Given the description of an element on the screen output the (x, y) to click on. 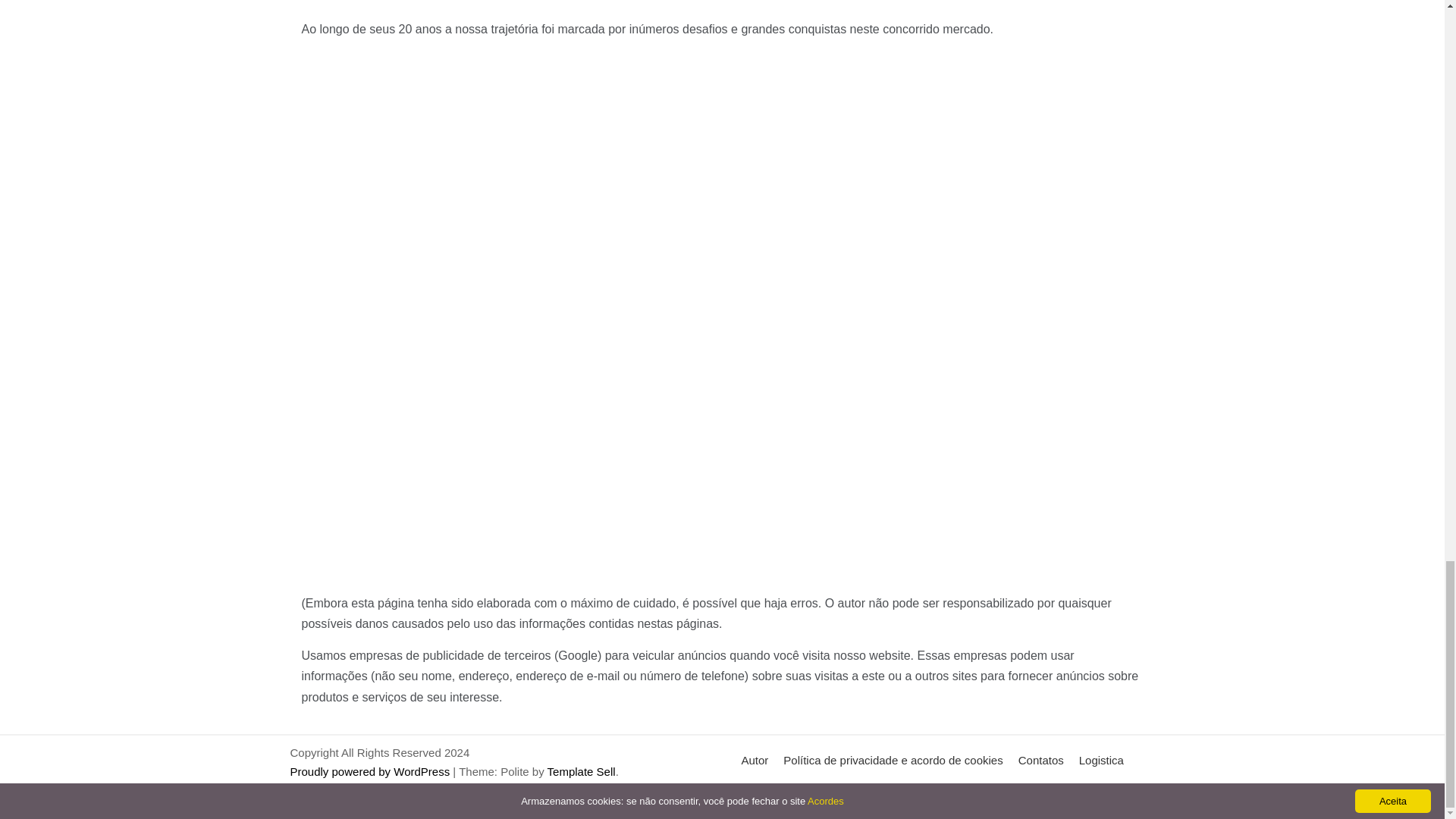
Contatos (1040, 759)
Problemas (816, 794)
Autor (754, 759)
Template Sell (581, 771)
Logistica (1101, 759)
llantas (757, 794)
Proudly powered by WordPress (370, 771)
